Given the description of an element on the screen output the (x, y) to click on. 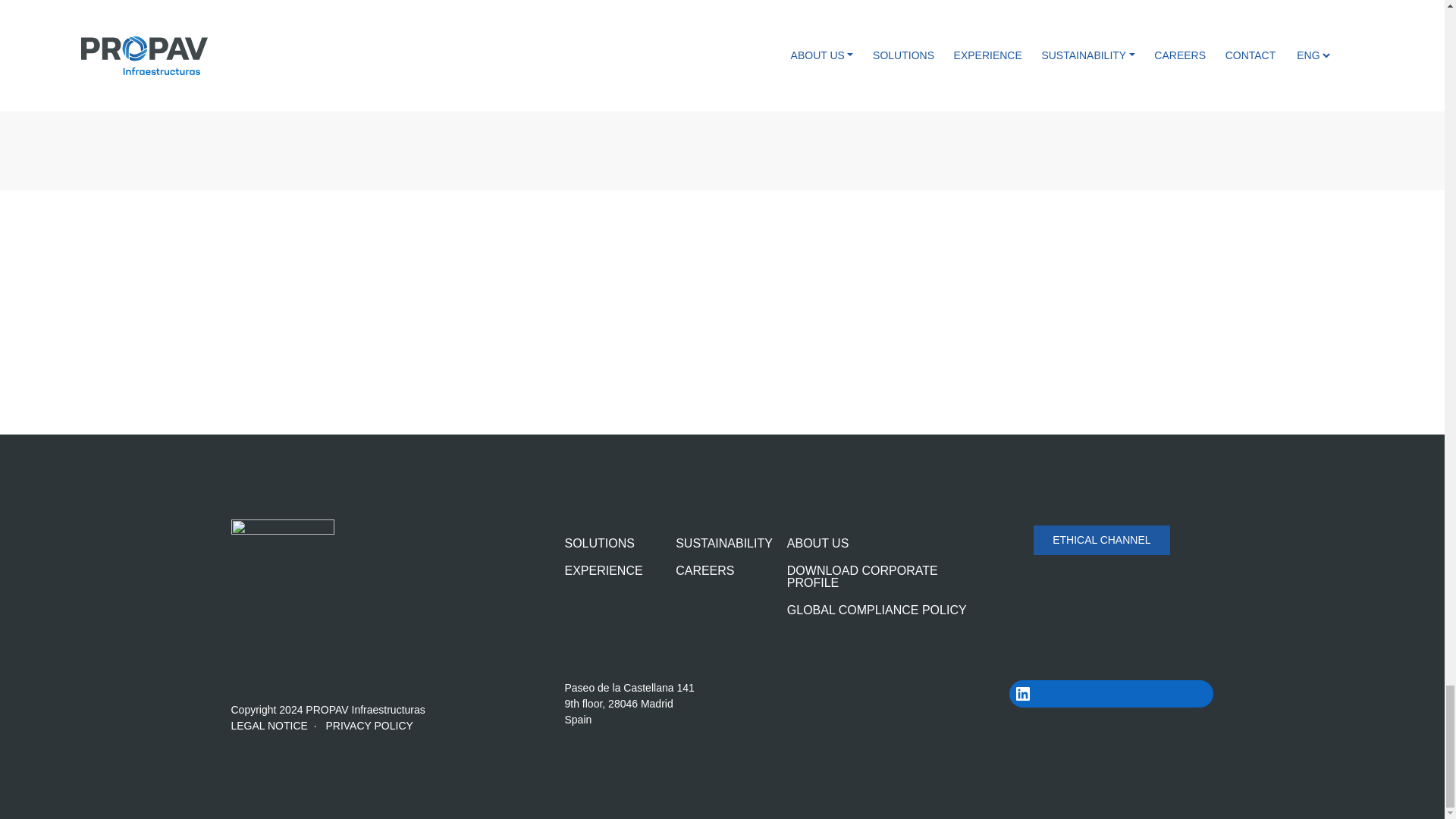
SOLUTIONS (598, 543)
OUR EXPERIENCE (969, 348)
OUR MISSION, VISION AND PRINCIPLES (472, 348)
